Given the description of an element on the screen output the (x, y) to click on. 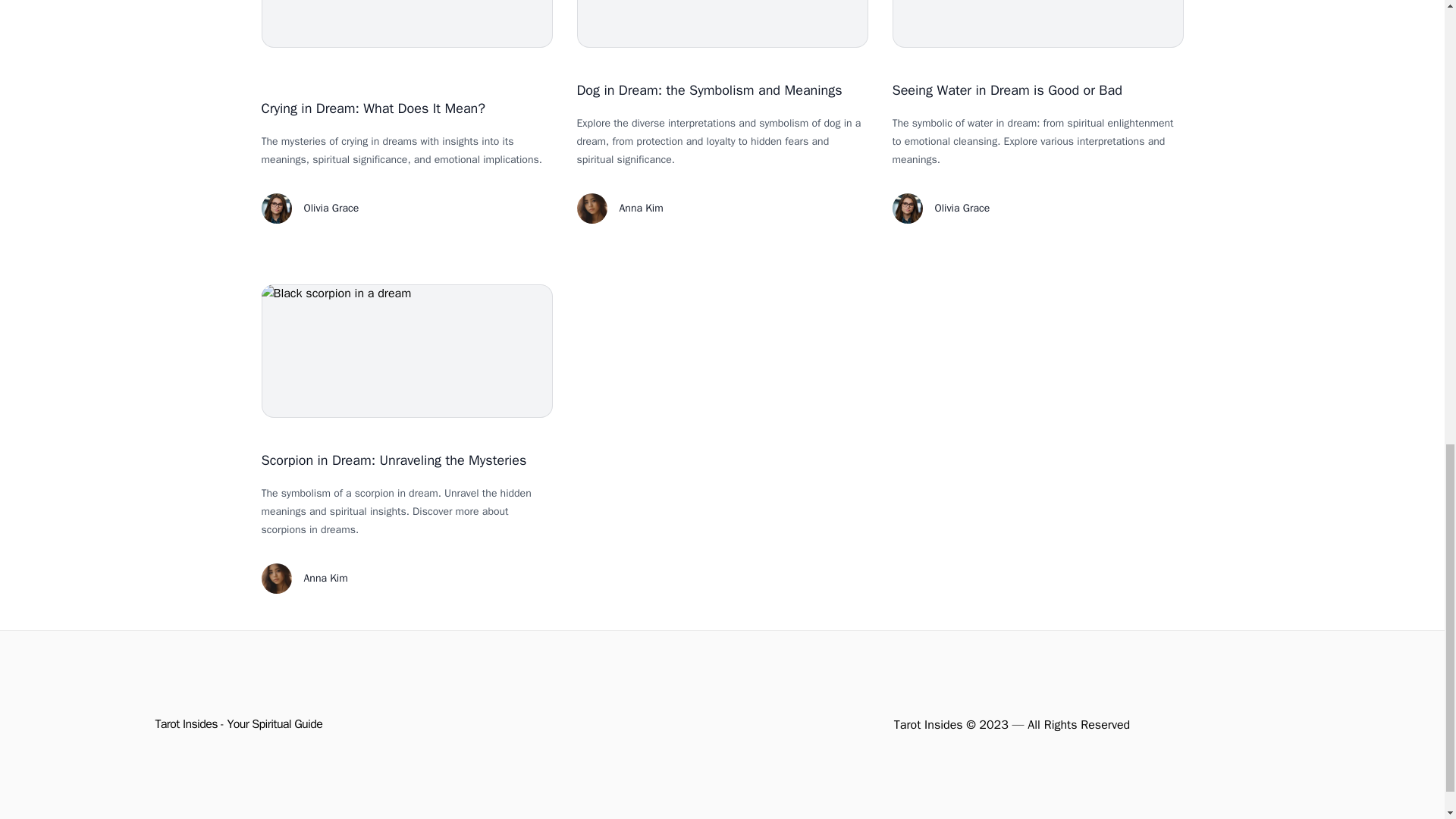
Dog in Dream: the Symbolism and Meanings (721, 23)
Woman Crying in Dream (405, 23)
Crying in Dream: What Does It Mean? (372, 108)
Seeing Water in Dream is Good or Bad (1006, 89)
seeing water in dream meaning (1036, 23)
Scorpion in Dream: Unraveling the Mysteries (392, 460)
Black scorpion in a dream (405, 350)
Dog in Dream: the Symbolism and Meanings (708, 89)
